Given the description of an element on the screen output the (x, y) to click on. 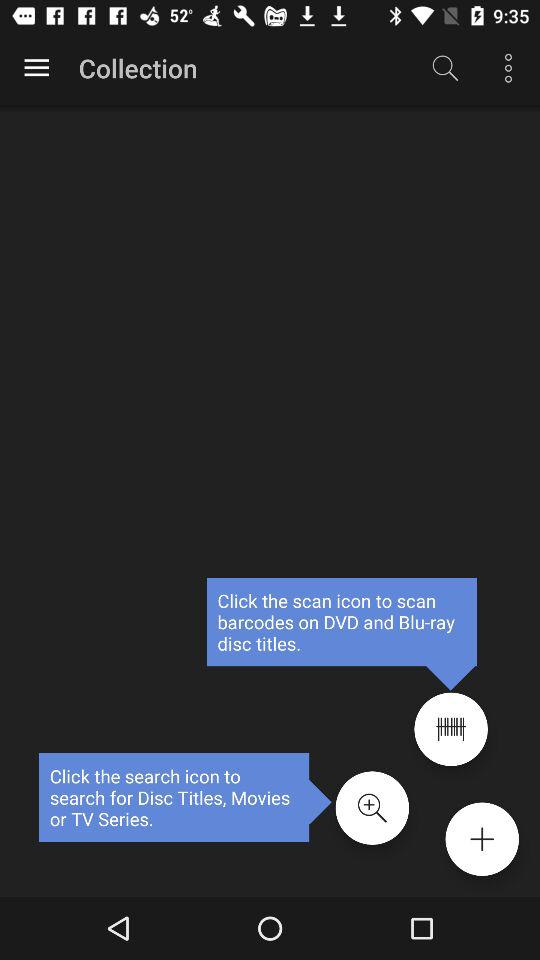
choose from the options (36, 68)
